Given the description of an element on the screen output the (x, y) to click on. 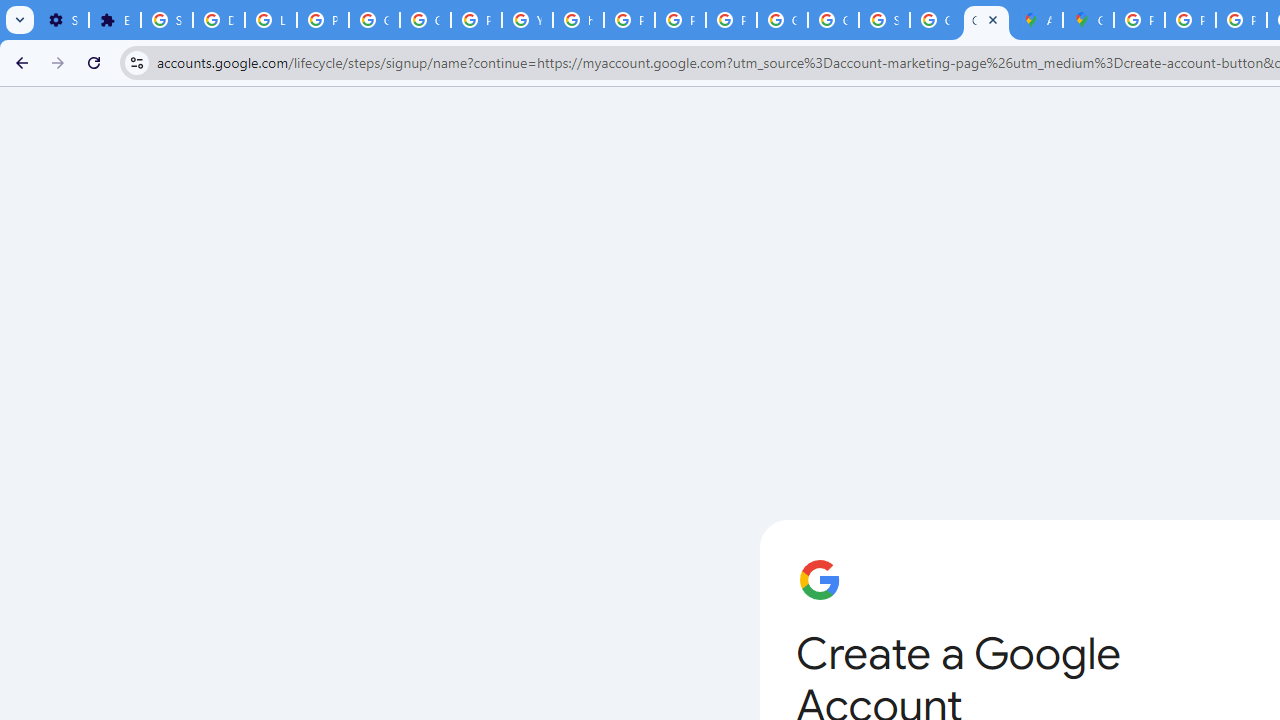
https://scholar.google.com/ (578, 20)
Privacy Help Center - Policies Help (1189, 20)
YouTube (526, 20)
Learn how to find your photos - Google Photos Help (270, 20)
Settings - On startup (63, 20)
Search tabs (20, 20)
Create your Google Account (986, 20)
Privacy Help Center - Policies Help (629, 20)
Forward (57, 62)
Extensions (114, 20)
Google Account Help (374, 20)
View site information (136, 62)
